Given the description of an element on the screen output the (x, y) to click on. 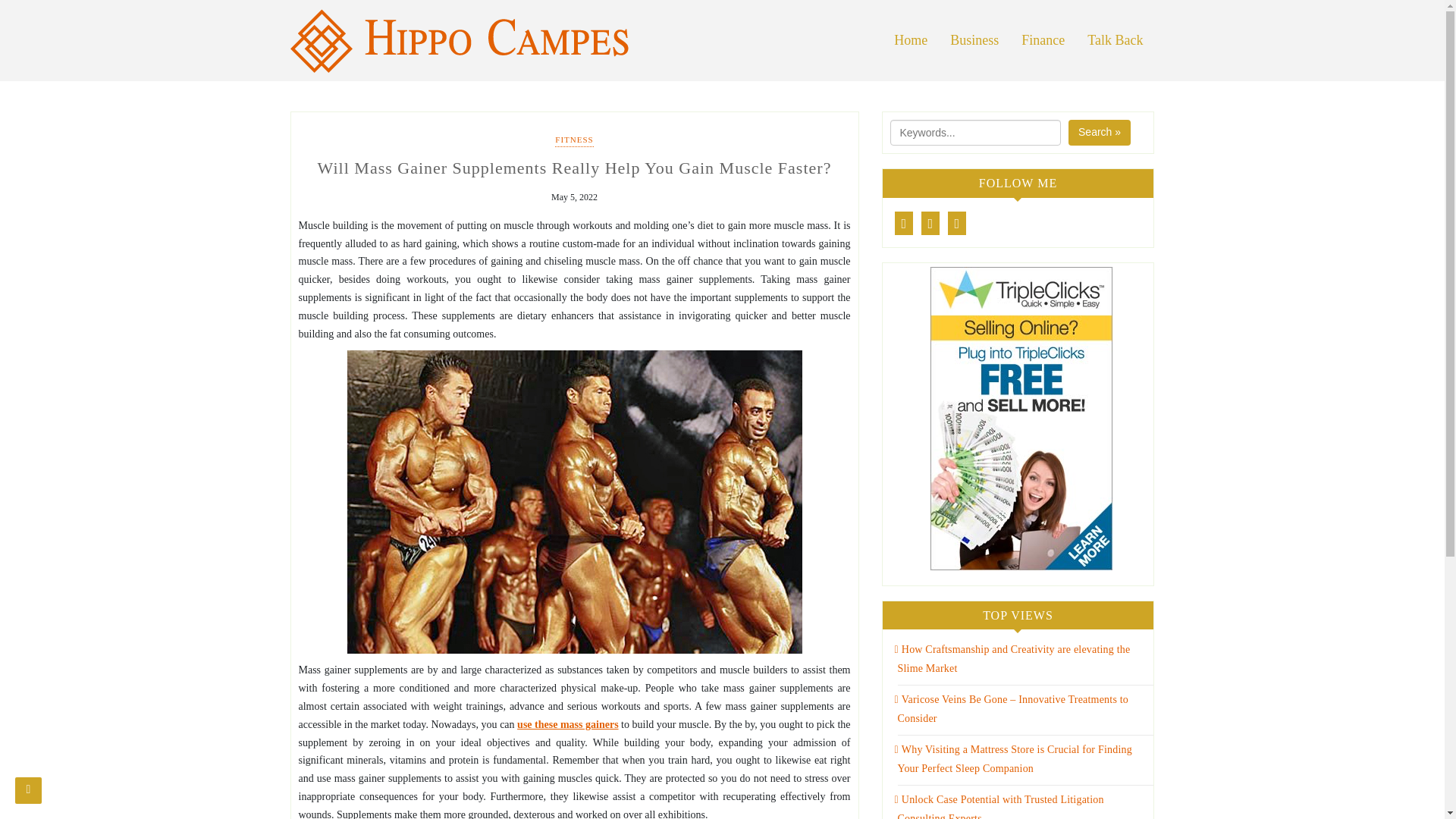
use these mass gainers (566, 724)
Talk Back (1114, 40)
FITNESS (573, 141)
